Given the description of an element on the screen output the (x, y) to click on. 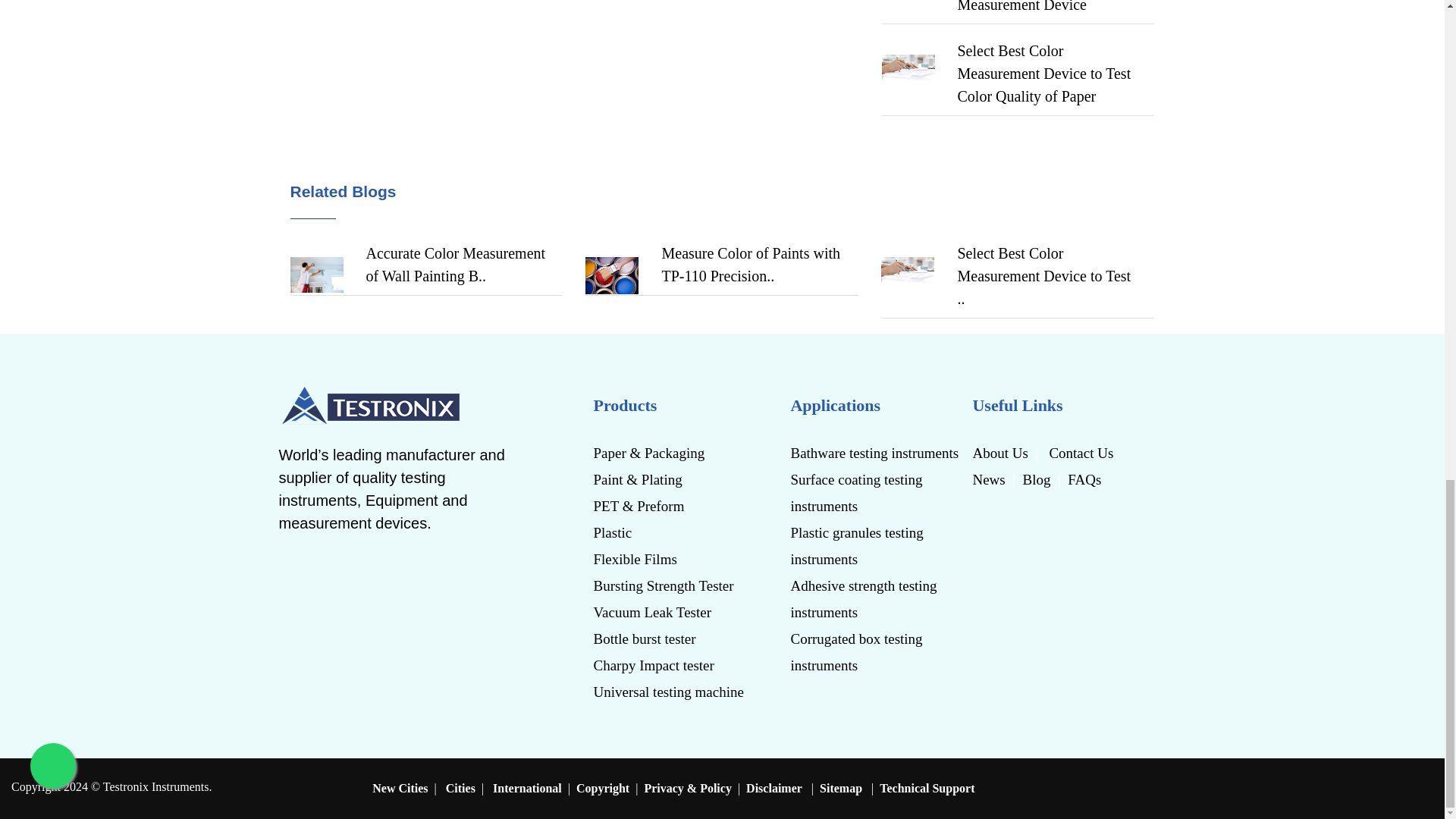
Bathware testing instruments (875, 452)
Bursting Strength Tester (673, 585)
Plastic (673, 532)
Select Best Color Measurement Device to Test .. (1043, 275)
Universal testing machine (673, 691)
Applications (875, 405)
Vacuum Leak Tester (673, 611)
Charpy Impact tester (673, 664)
